Given the description of an element on the screen output the (x, y) to click on. 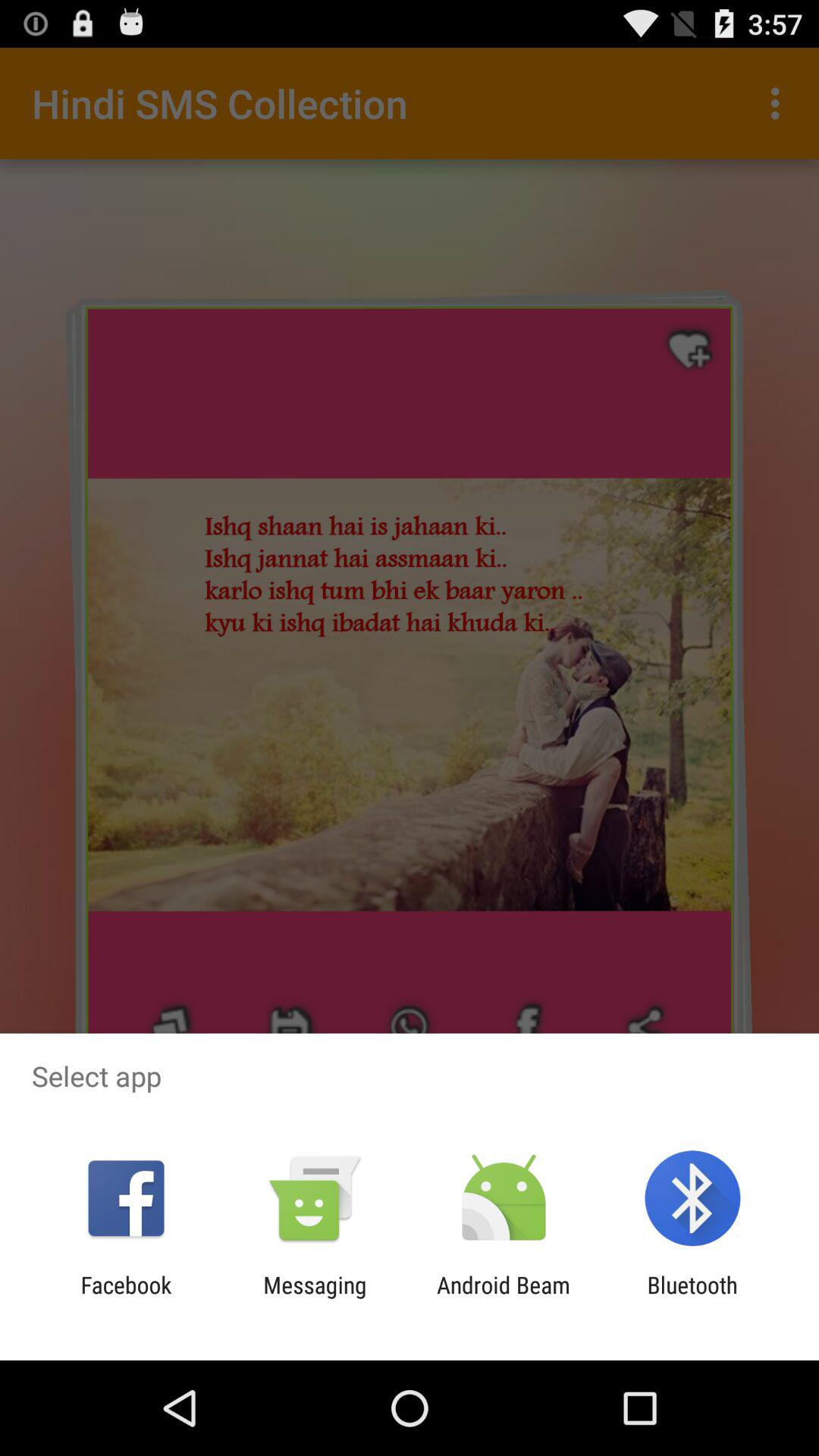
open item to the left of the messaging (125, 1298)
